Given the description of an element on the screen output the (x, y) to click on. 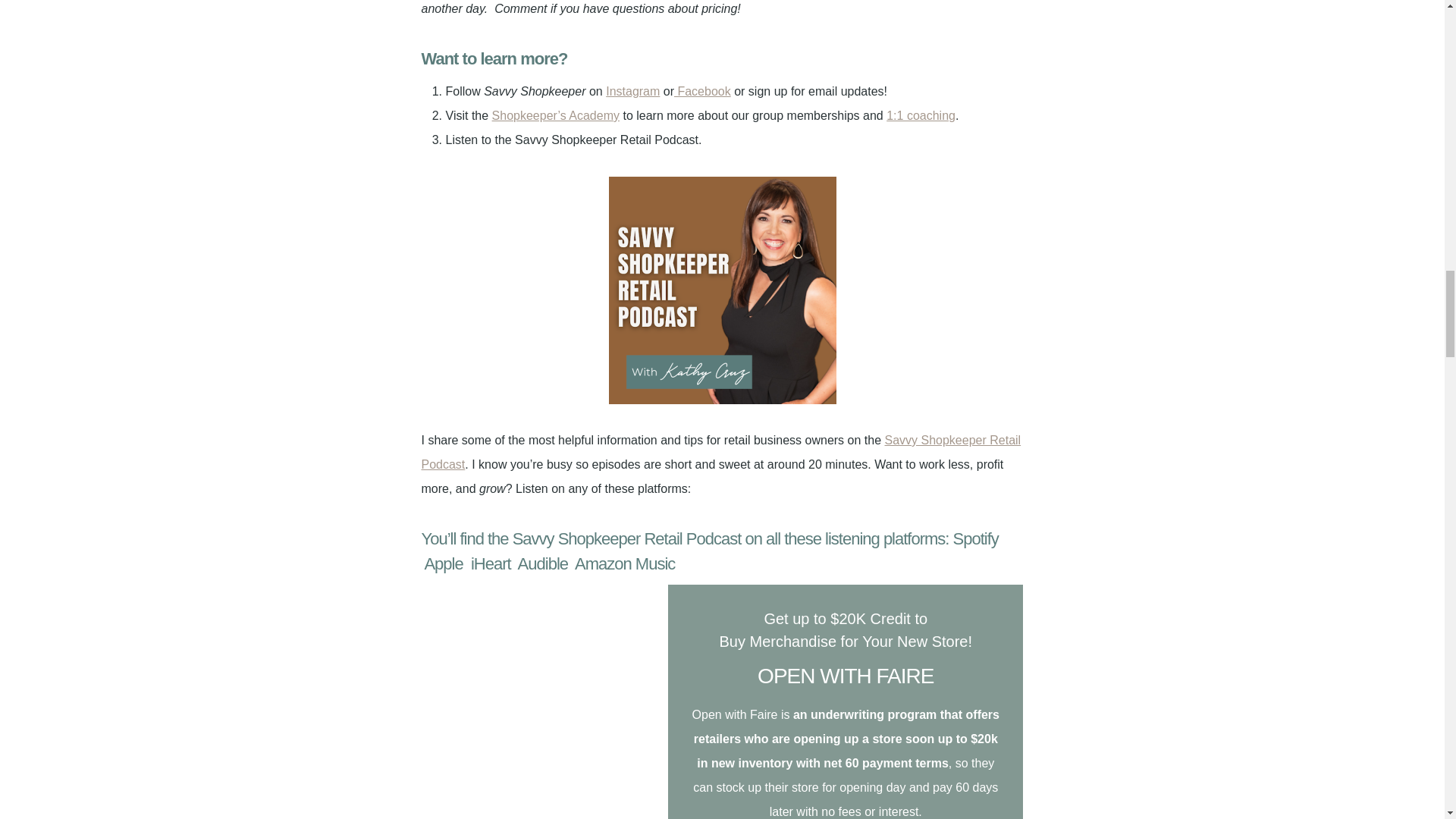
 Apple (442, 563)
Spotify (973, 538)
  iHeart (487, 563)
 Amazon Music (623, 563)
1:1 coaching (920, 115)
Instagram (632, 91)
Facebook (702, 91)
Savvy Shopkeeper Retail Podcast (722, 452)
 Audible (541, 563)
